Given the description of an element on the screen output the (x, y) to click on. 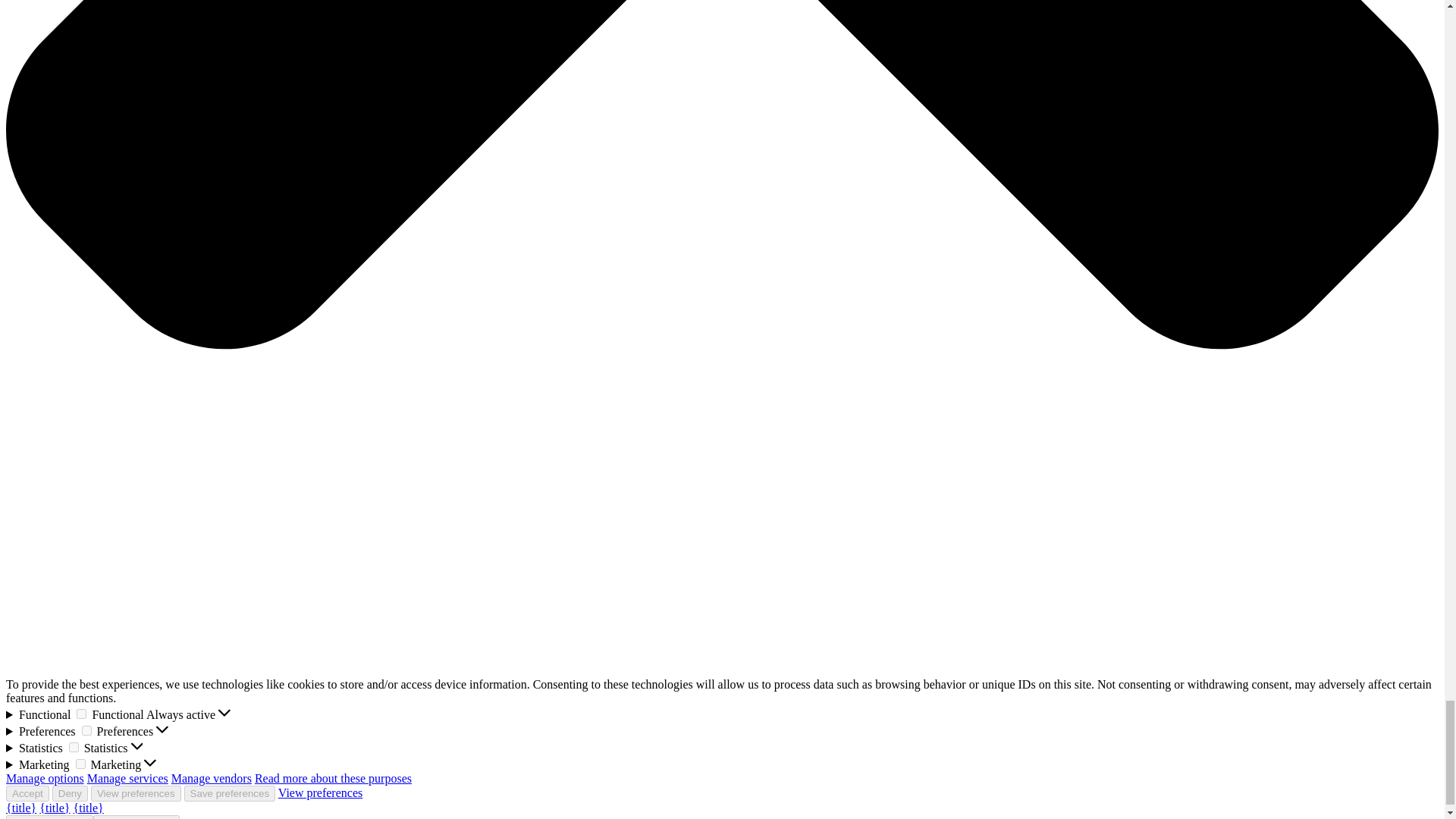
1 (86, 730)
1 (81, 714)
1 (80, 764)
1 (73, 747)
